Given the description of an element on the screen output the (x, y) to click on. 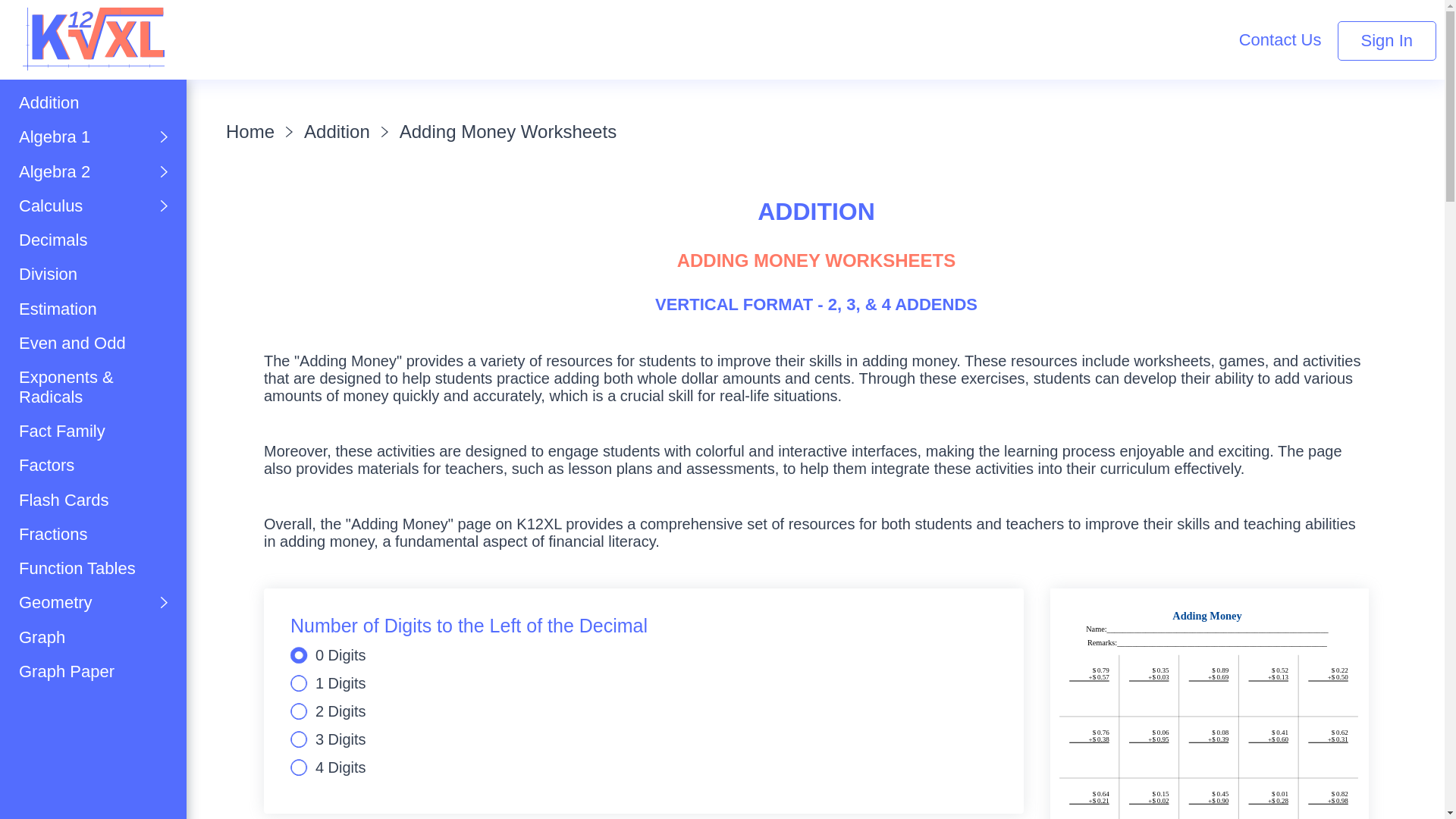
Addition (93, 102)
Algebra 2 (93, 171)
Contact Us (1280, 39)
Advertisement (93, 772)
Calculus (93, 205)
Algebra 1 (93, 136)
Sign In (1387, 40)
Advertisement (374, 33)
